Given the description of an element on the screen output the (x, y) to click on. 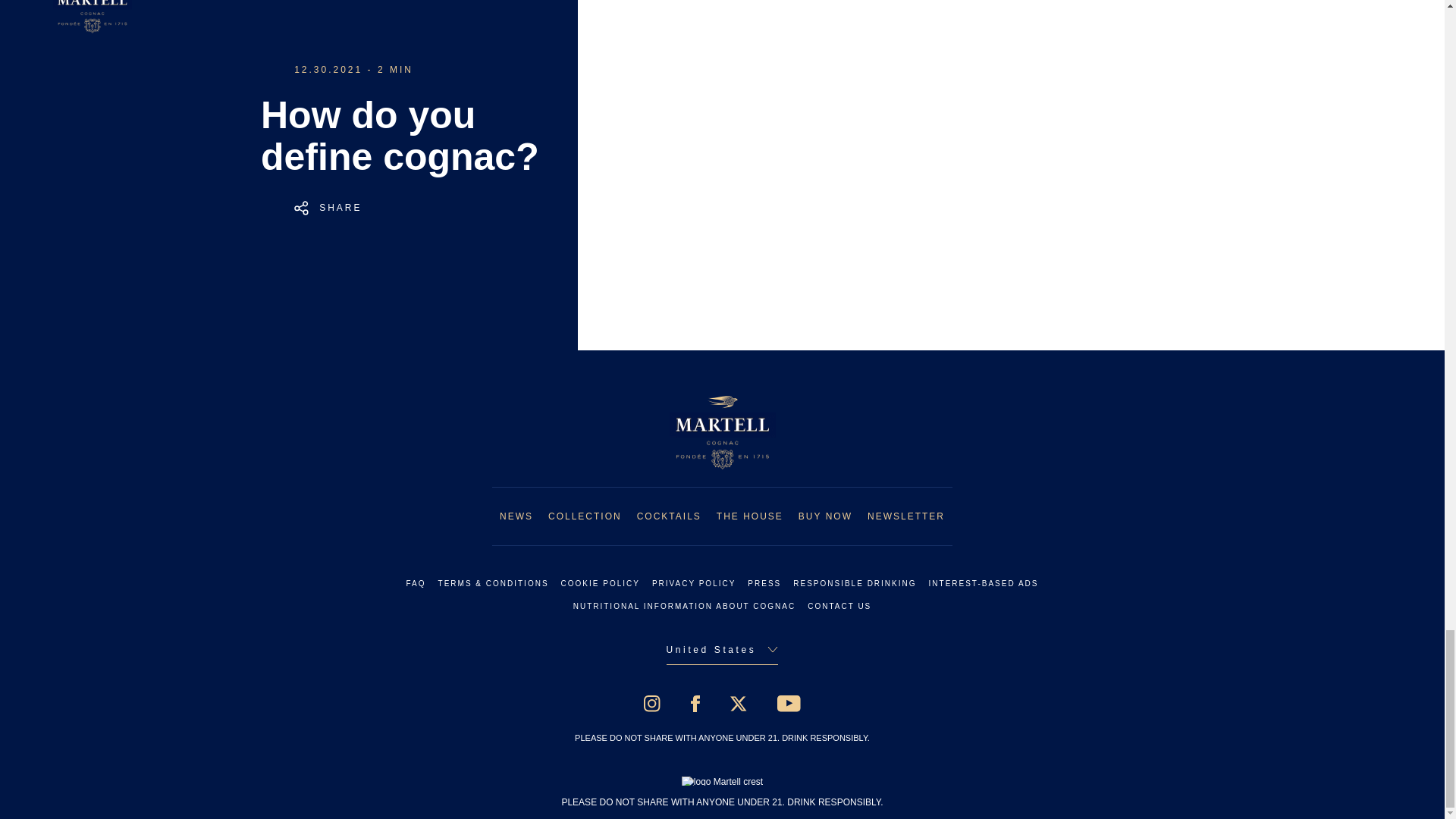
BUY NOW (824, 516)
NEWS (515, 516)
THE HOUSE (749, 516)
COCKTAILS (669, 516)
COLLECTION (584, 516)
